Given the description of an element on the screen output the (x, y) to click on. 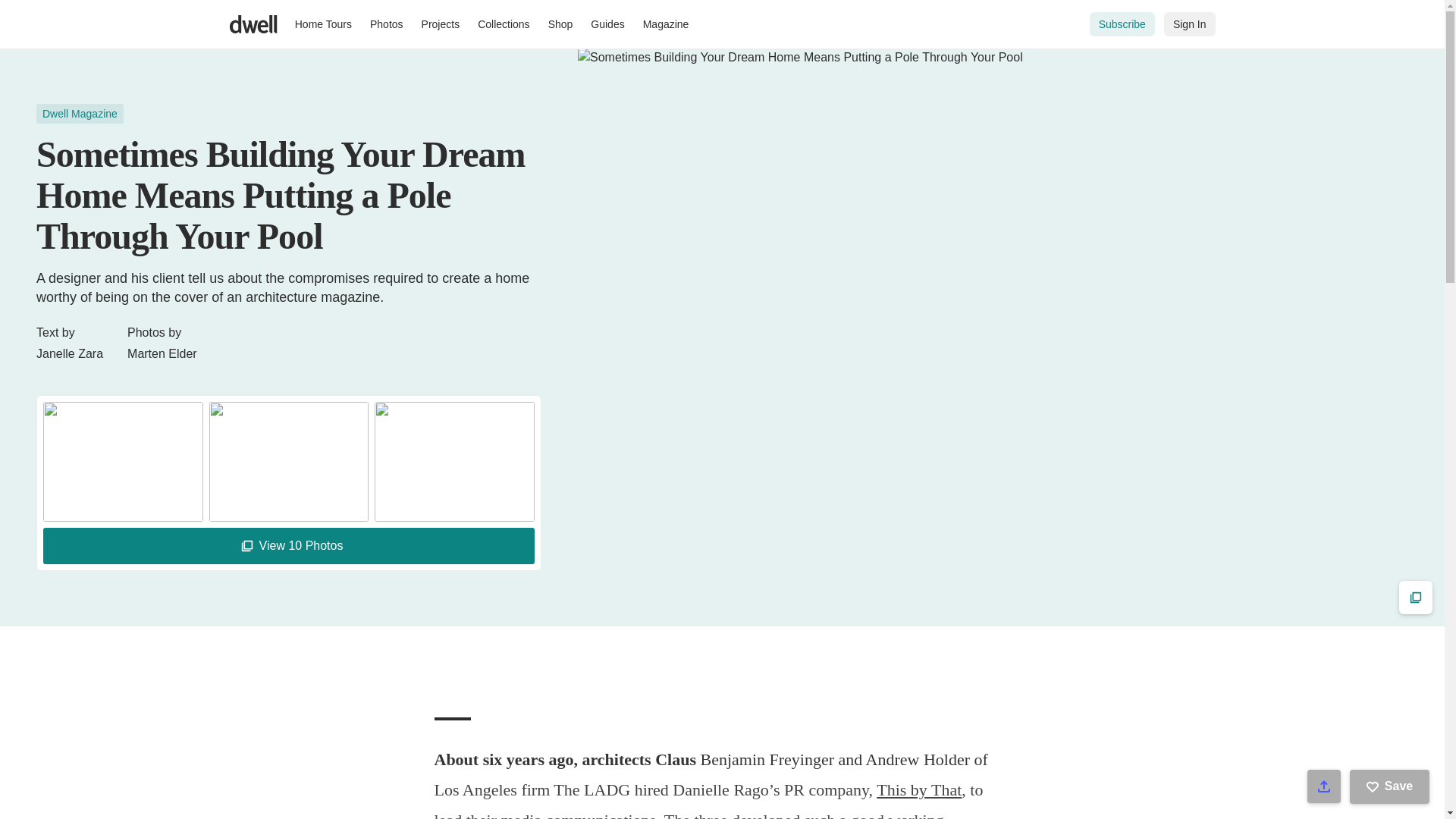
Guides (606, 24)
Photos (386, 24)
Projects (440, 24)
Home Tours (323, 24)
Shop (560, 24)
Collections (503, 24)
